Given the description of an element on the screen output the (x, y) to click on. 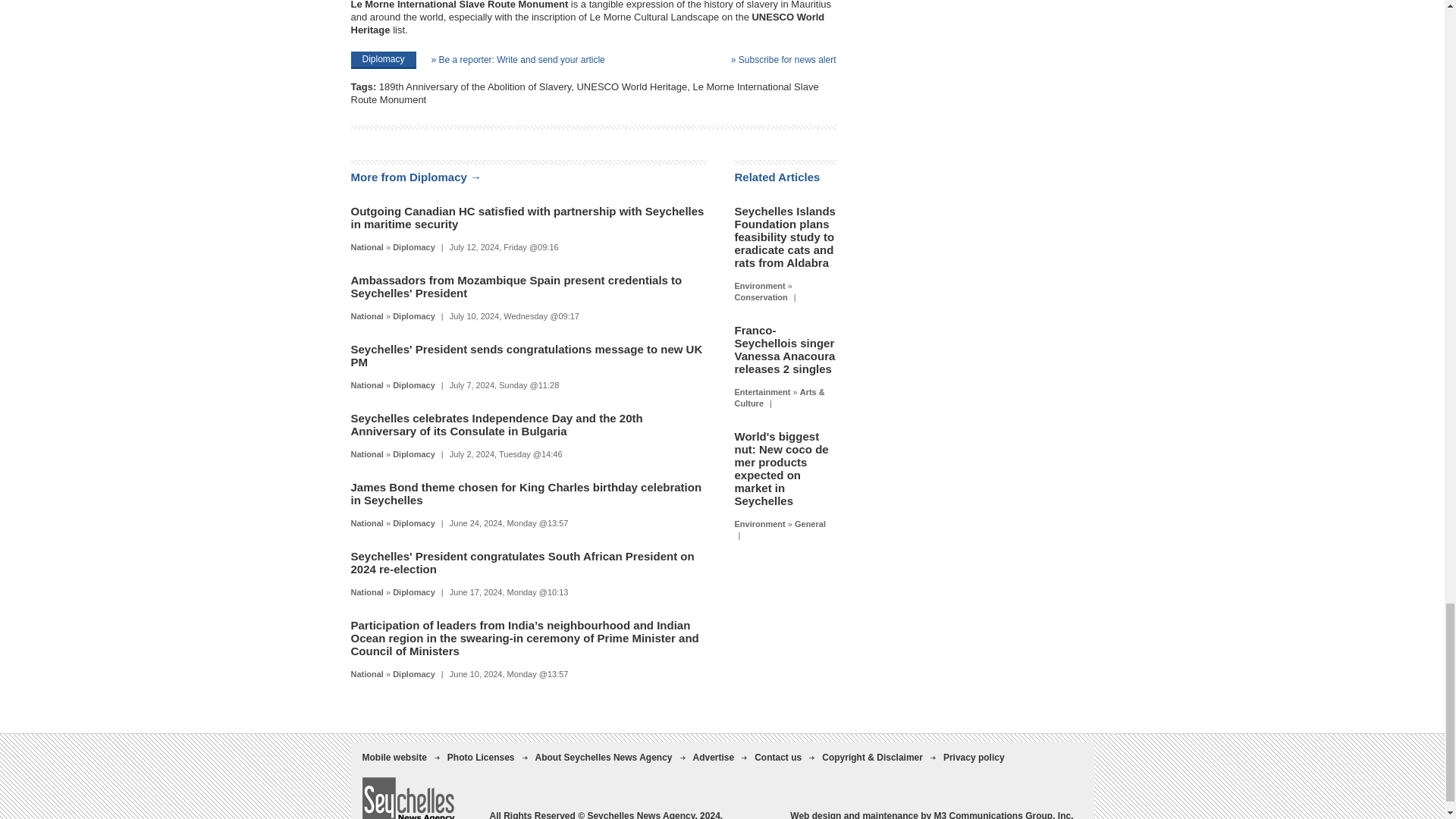
189th Anniversary of the Abolition of Slavery (474, 86)
Diplomacy (382, 59)
Diplomacy News (414, 246)
Diplomacy (414, 246)
Diplomacy News (414, 316)
, Le Morne International Slave Route Monument (584, 93)
, UNESCO World Heritage (628, 86)
National (366, 246)
Subscribe for news alert (782, 59)
